Given the description of an element on the screen output the (x, y) to click on. 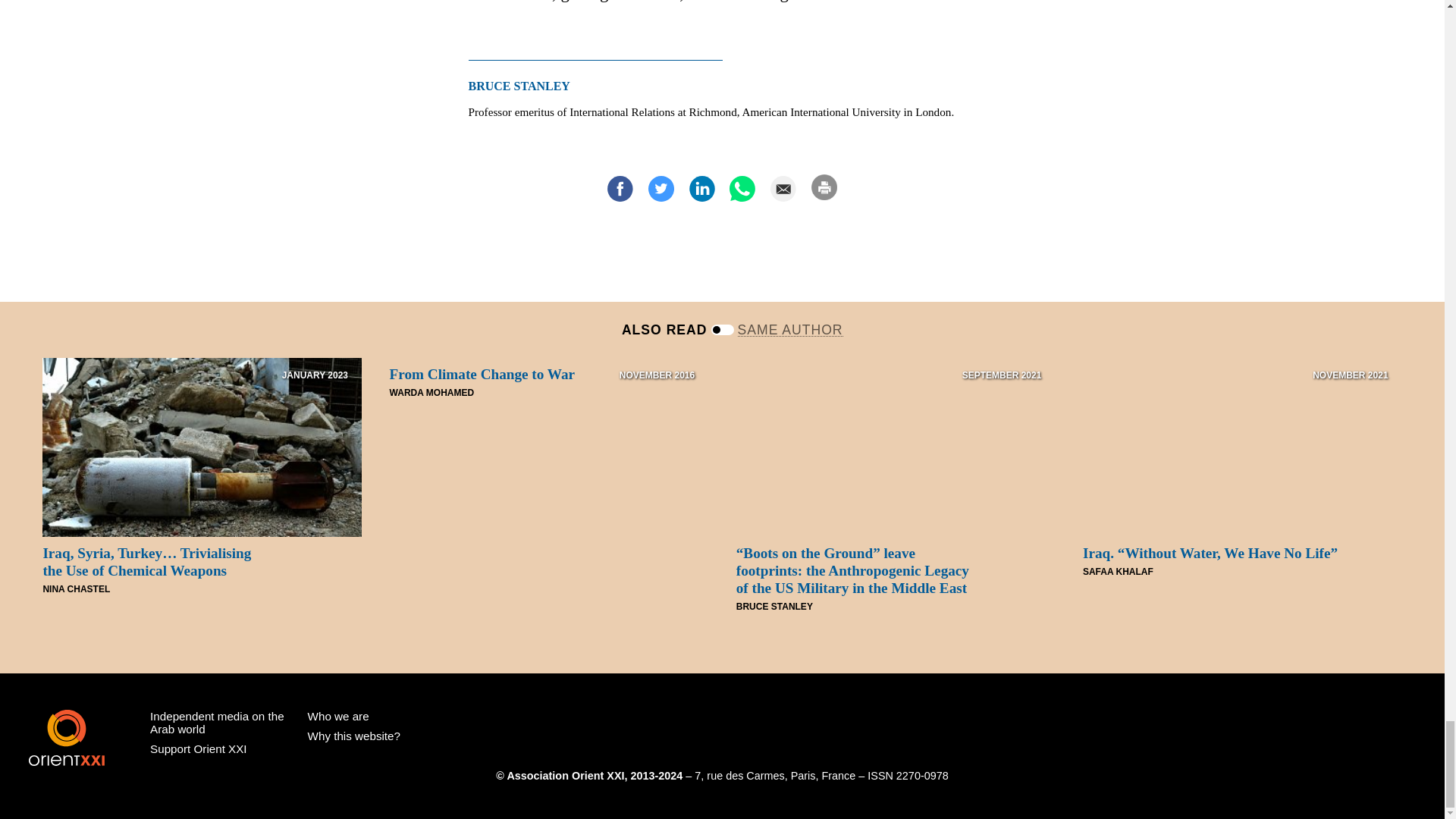
Twitter (660, 188)
Whatsapp (742, 188)
Imprimer (823, 186)
LinkedIn (701, 188)
Mail (782, 188)
Facebook (619, 188)
